Given the description of an element on the screen output the (x, y) to click on. 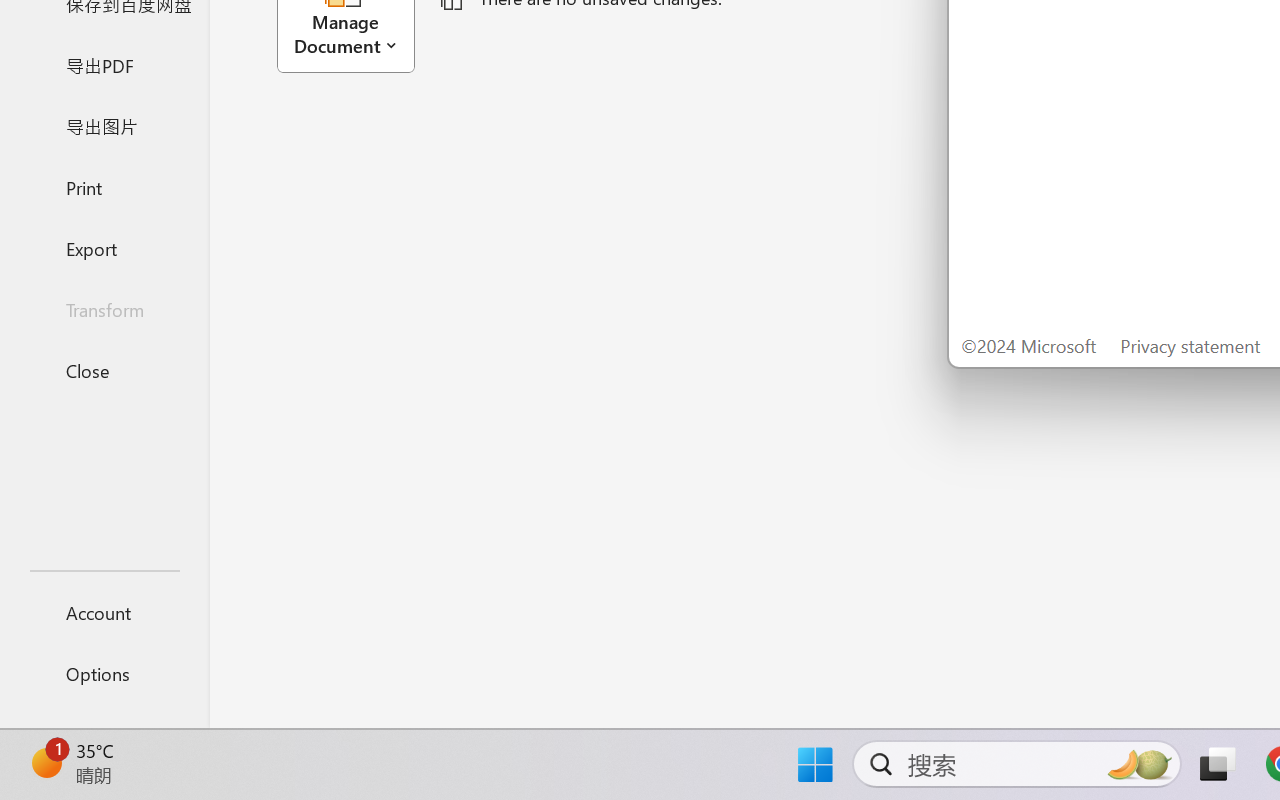
Transform (104, 309)
Export (104, 248)
Print (104, 186)
Account (104, 612)
Options (104, 673)
